Given the description of an element on the screen output the (x, y) to click on. 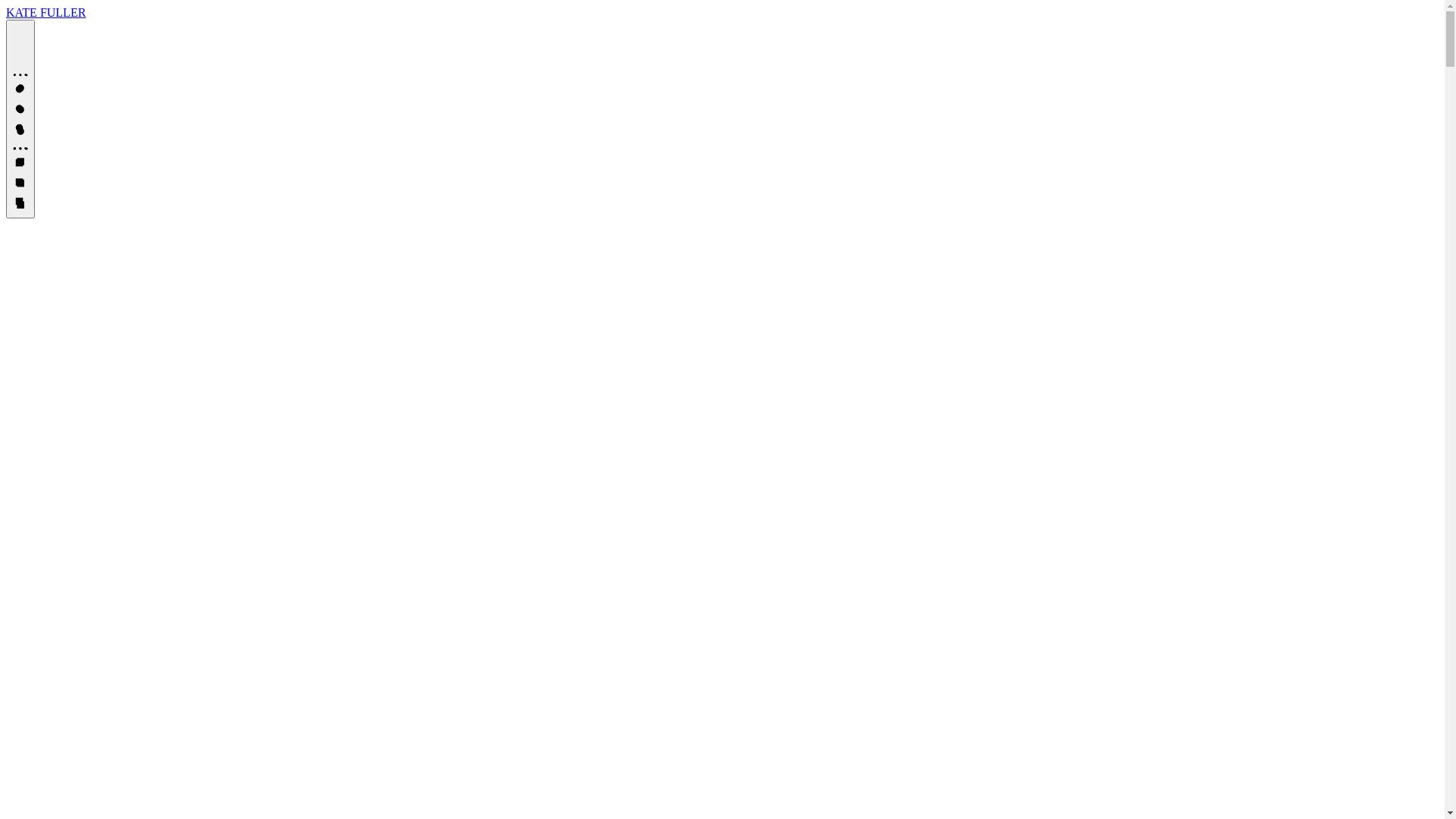
KATE FULLER Element type: text (45, 12)
